Given the description of an element on the screen output the (x, y) to click on. 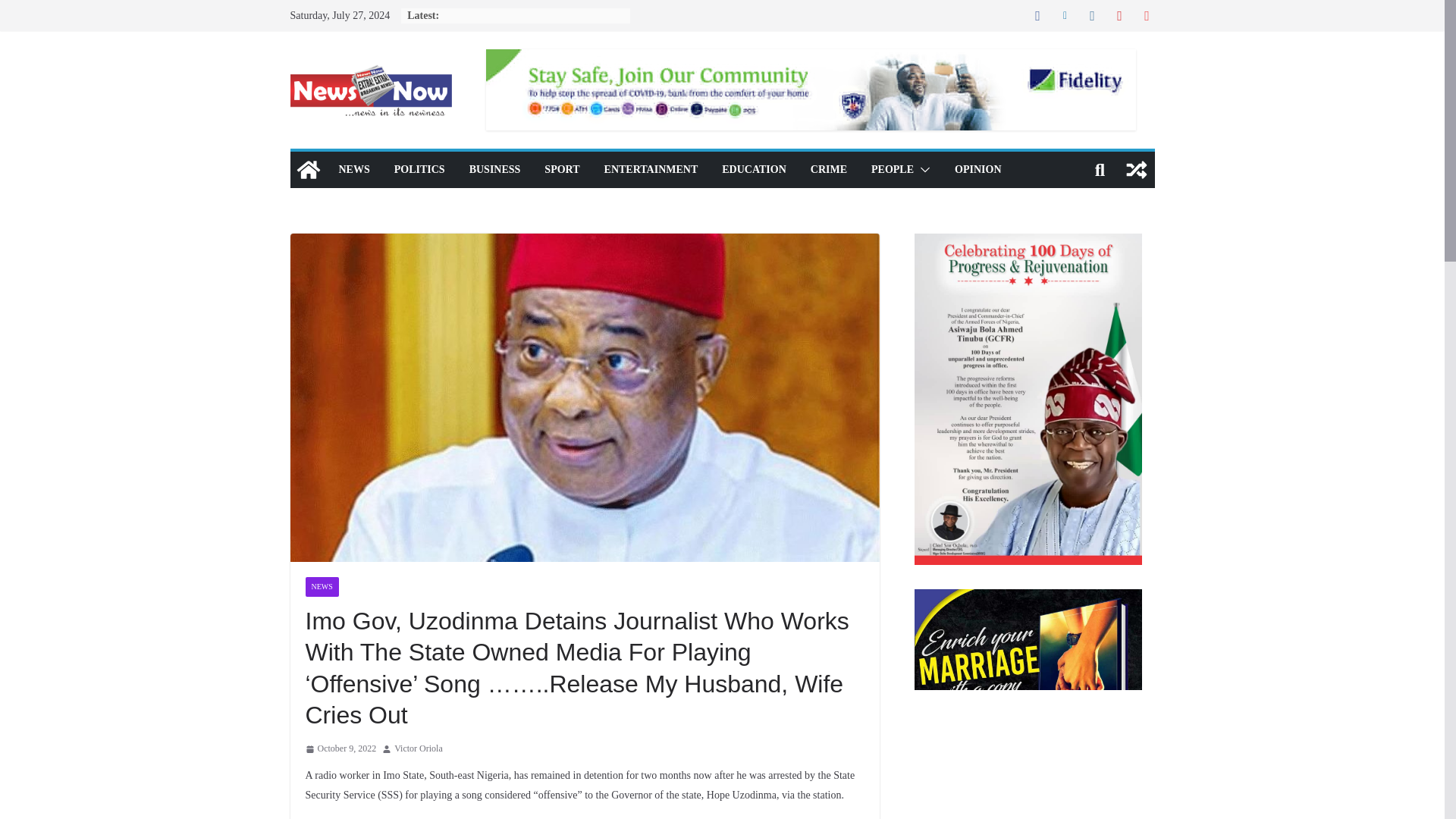
OPINION (978, 169)
SPORT (561, 169)
View a random post (1136, 169)
NEWS (320, 586)
Newsnowonline (307, 169)
EDUCATION (754, 169)
ENTERTAINMENT (651, 169)
CRIME (828, 169)
POLITICS (419, 169)
PEOPLE (892, 169)
Victor Oriola (418, 749)
October 9, 2022 (339, 749)
Victor Oriola (418, 749)
NEWS (353, 169)
BUSINESS (494, 169)
